Given the description of an element on the screen output the (x, y) to click on. 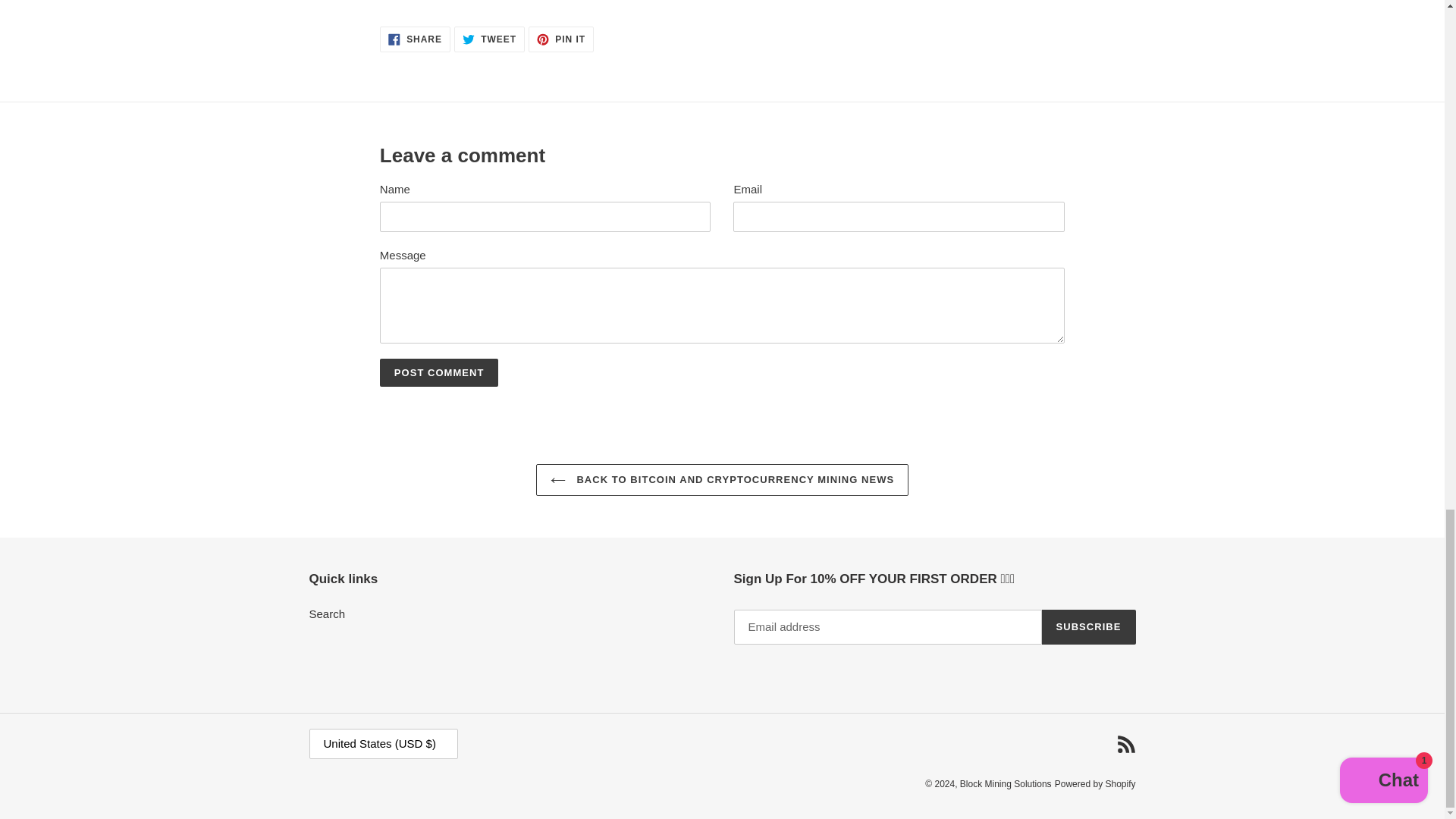
Search (327, 613)
Post comment (439, 372)
BACK TO BITCOIN AND CRYPTOCURRENCY MINING NEWS (561, 39)
SUBSCRIBE (721, 480)
Post comment (1088, 626)
